Given the description of an element on the screen output the (x, y) to click on. 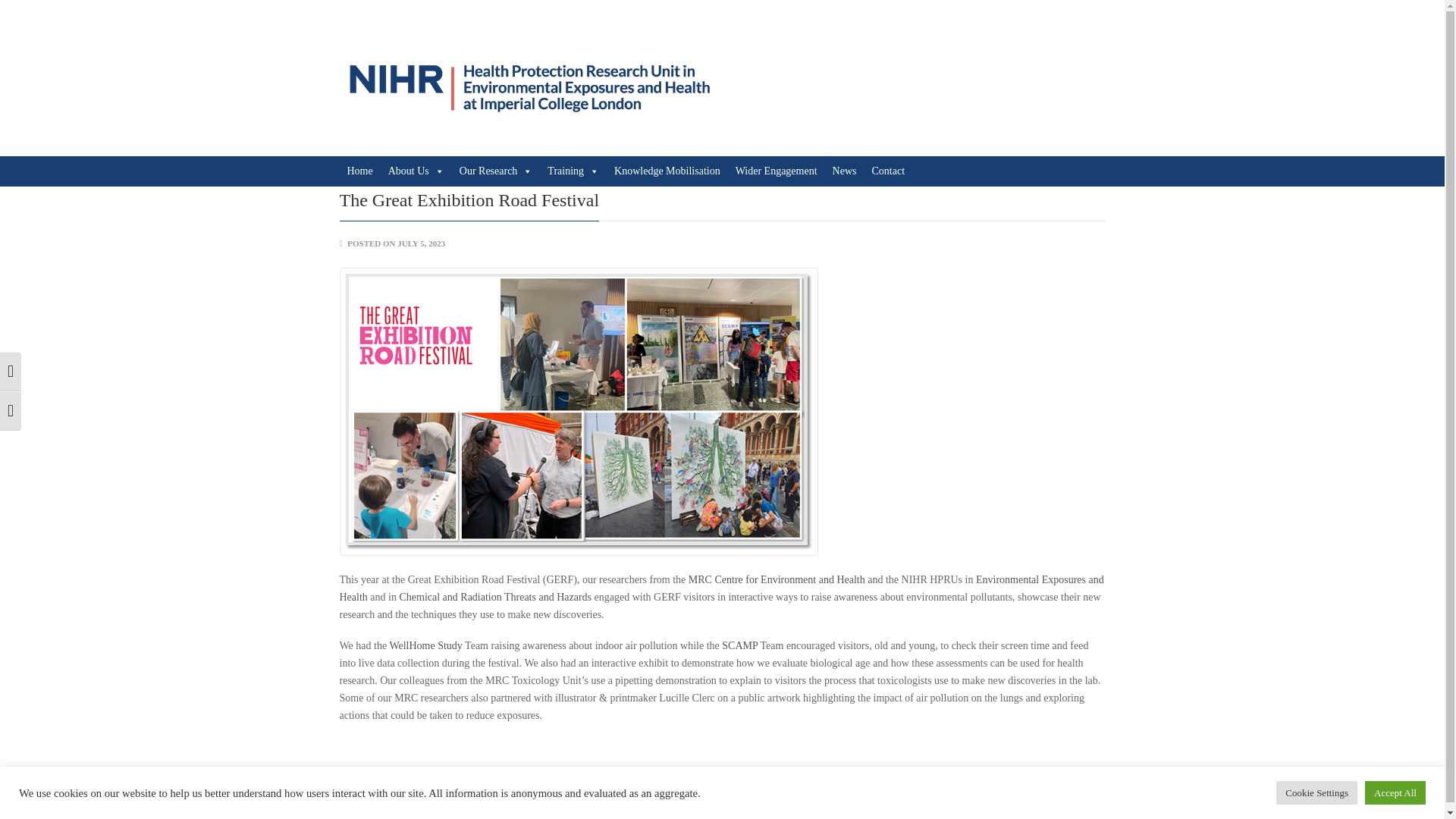
PRIVACY NOTICE (987, 799)
MRC Centre for Environment and Health (776, 579)
ACCESSIBILITY (1071, 799)
Accept All (1395, 792)
Wider Engagement (776, 171)
SCAMP (739, 645)
WellHome Study (424, 645)
CONTACT (914, 799)
Cookie Settings (1316, 792)
Environmental Exposures and Health (721, 588)
